Given the description of an element on the screen output the (x, y) to click on. 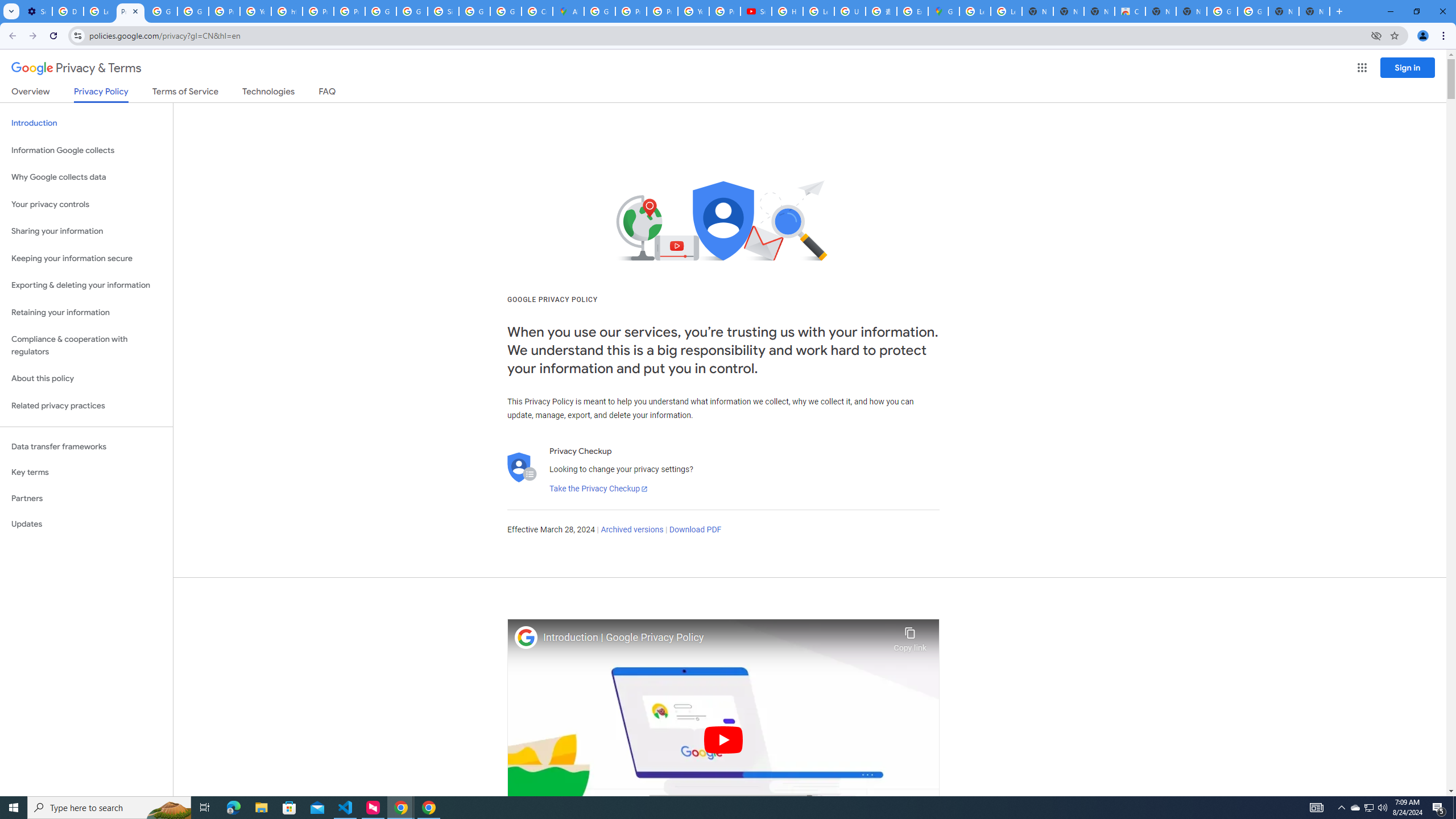
Related privacy practices (86, 405)
Delete photos & videos - Computer - Google Photos Help (67, 11)
Settings - Performance (36, 11)
About this policy (86, 379)
How Chrome protects your passwords - Google Chrome Help (787, 11)
Retaining your information (86, 312)
